Given the description of an element on the screen output the (x, y) to click on. 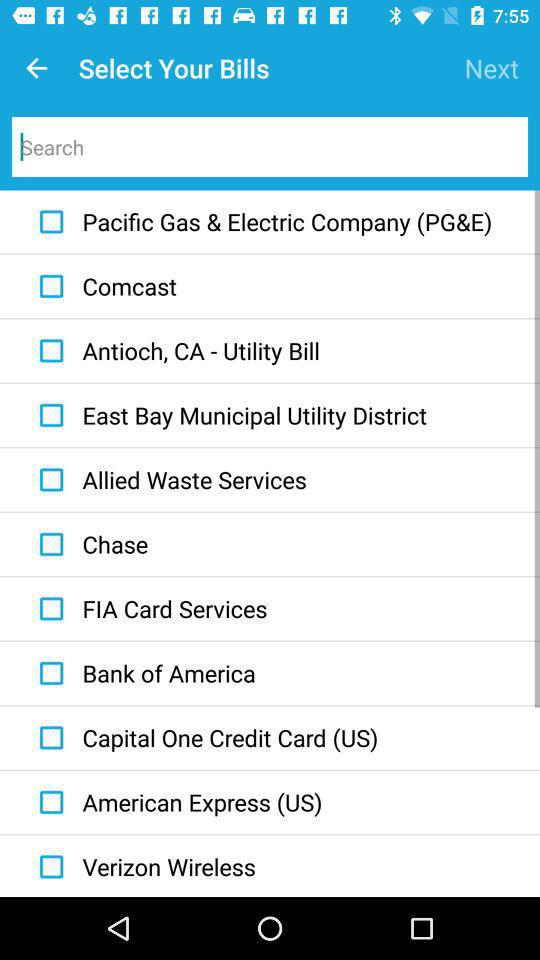
search a bill (270, 147)
